Given the description of an element on the screen output the (x, y) to click on. 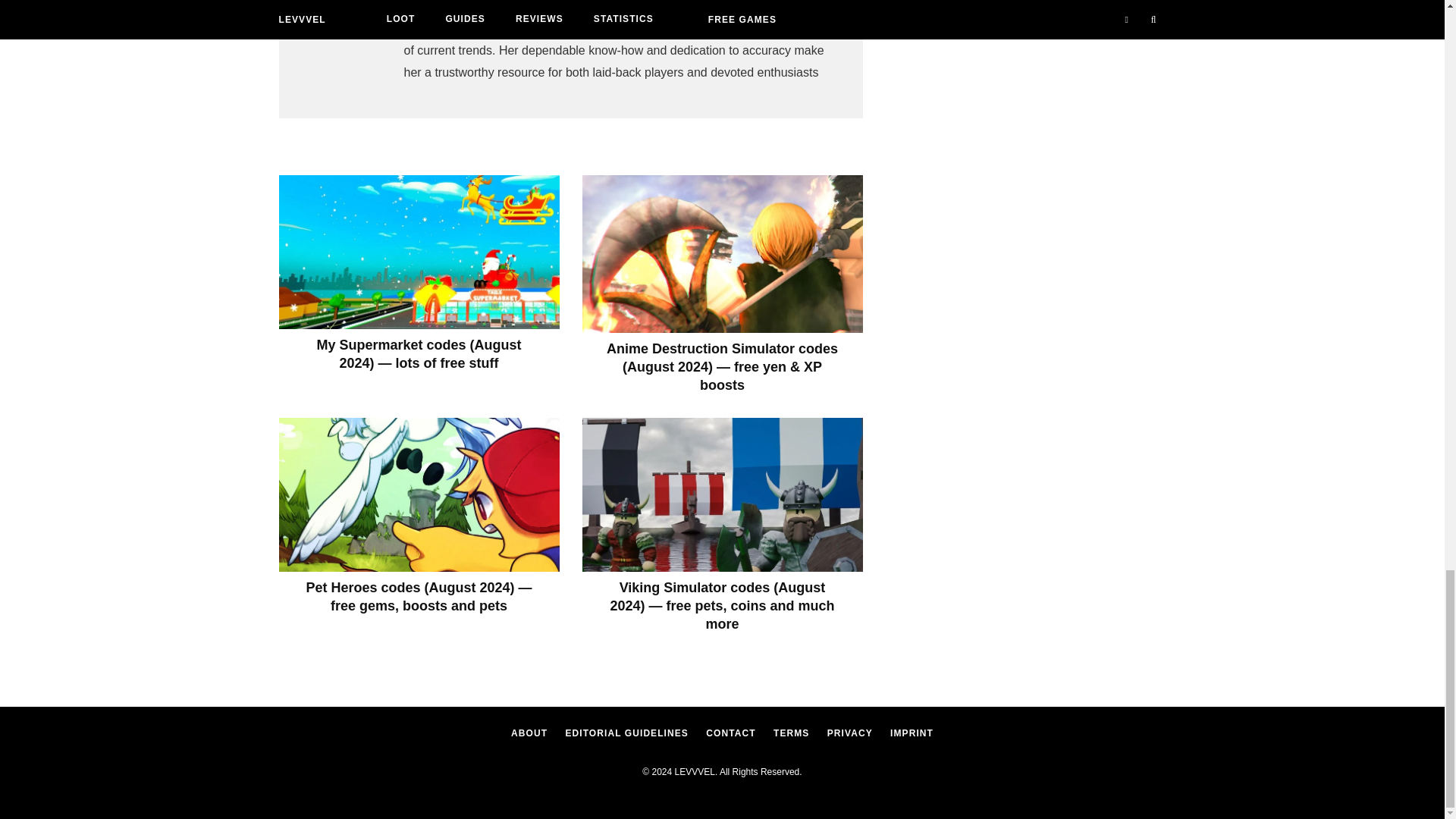
Anime-Destruction-Simulator-codes (722, 253)
My-Supermarket-codes (419, 251)
Pet-Heroes-codes (419, 493)
viking simulator codes (722, 493)
